Given the description of an element on the screen output the (x, y) to click on. 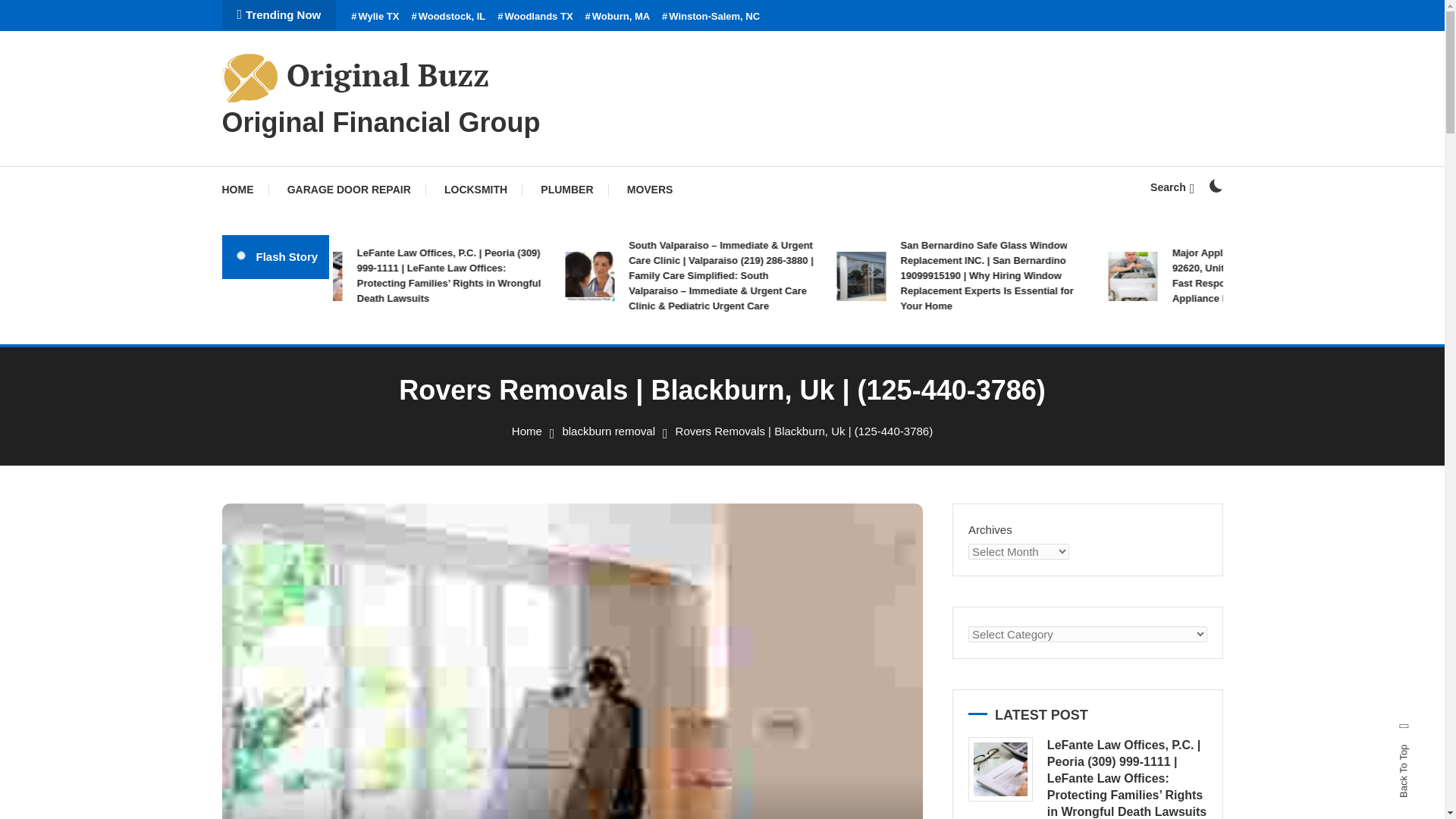
LOCKSMITH (475, 189)
on (1215, 185)
MOVERS (649, 189)
Original Financial Group (380, 122)
blackburn removal (608, 431)
Home (526, 431)
Woodstock, IL (447, 16)
Winston-Salem, NC (711, 16)
Woodlands TX (534, 16)
Search (768, 434)
Search (1171, 186)
HOME (244, 189)
PLUMBER (566, 189)
Wylie TX (374, 16)
GARAGE DOOR REPAIR (349, 189)
